Given the description of an element on the screen output the (x, y) to click on. 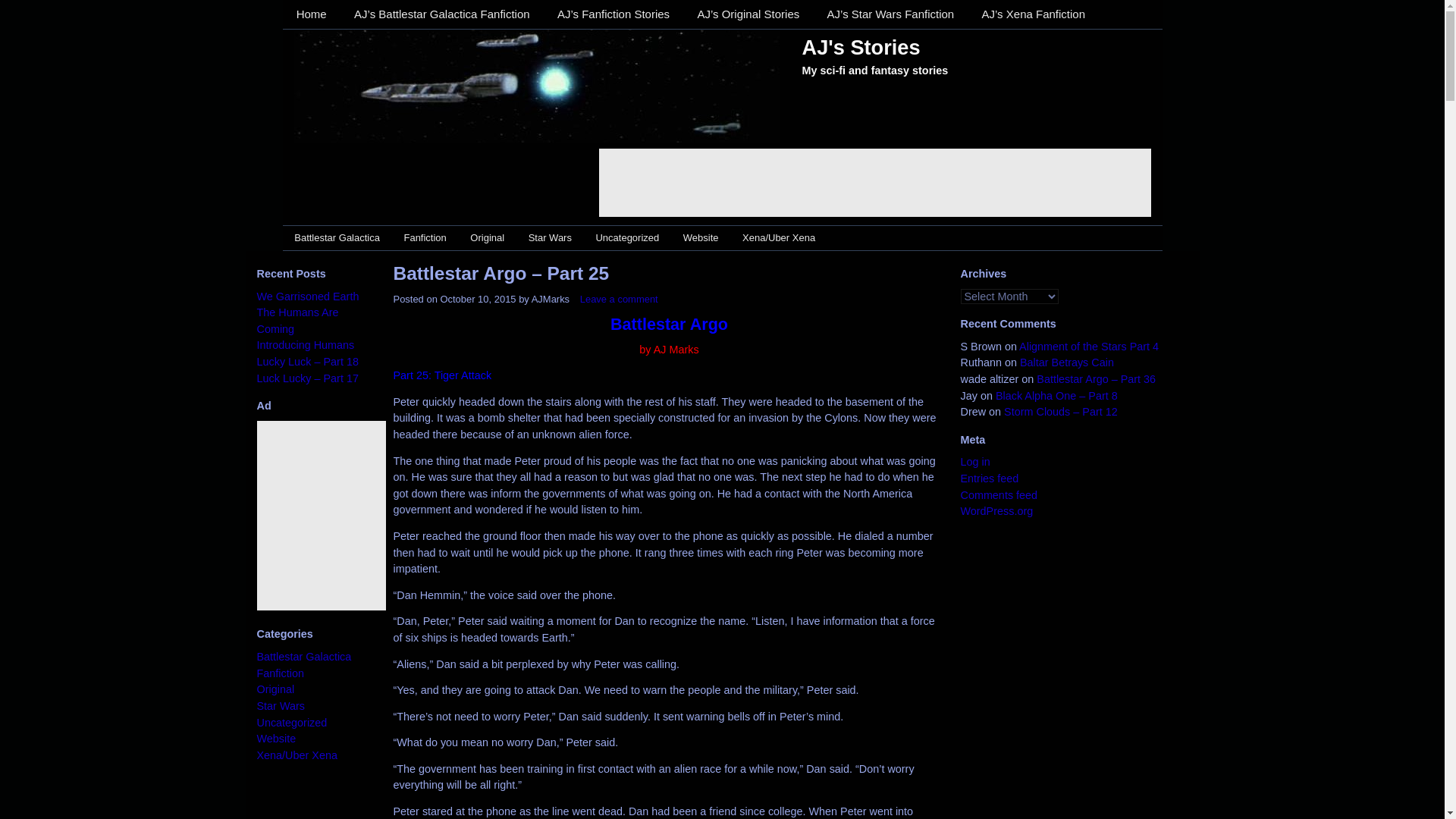
Star Wars (549, 238)
AJMarks (550, 298)
View all posts by AJMarks (550, 298)
Advertisement (369, 515)
Original (487, 238)
7:29 am (477, 298)
Fanfiction (424, 238)
Website (700, 238)
Leave a comment (618, 298)
AJ's Stories (861, 46)
Home (310, 14)
We Garrisoned Earth (307, 296)
Battlestar Galactica (336, 238)
Introducing Humans (304, 345)
The Humans Are Coming (296, 320)
